Given the description of an element on the screen output the (x, y) to click on. 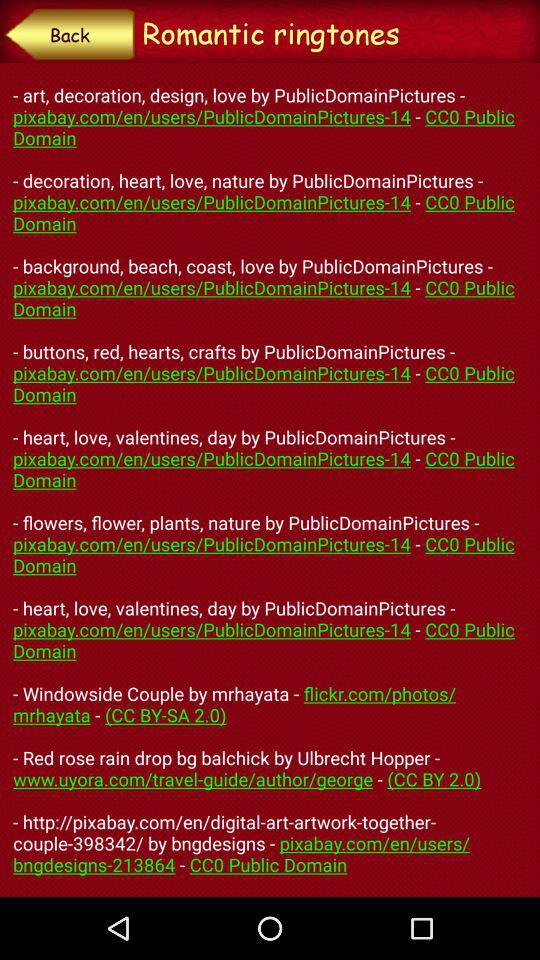
press endless love songs at the center (269, 479)
